Given the description of an element on the screen output the (x, y) to click on. 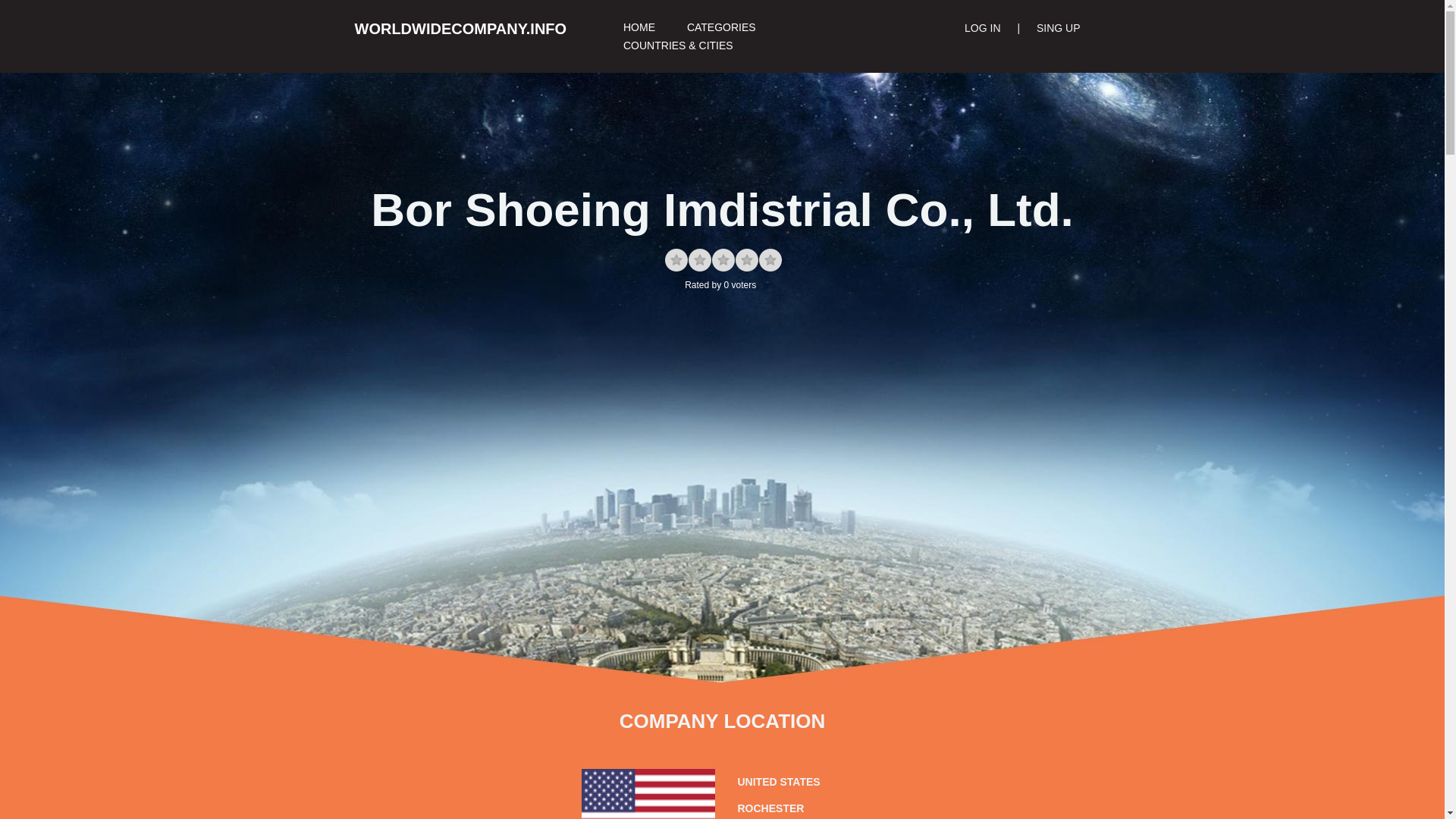
HOME (638, 27)
WORLDWIDECOMPANY.INFO (483, 28)
CATEGORIES (721, 27)
